Given the description of an element on the screen output the (x, y) to click on. 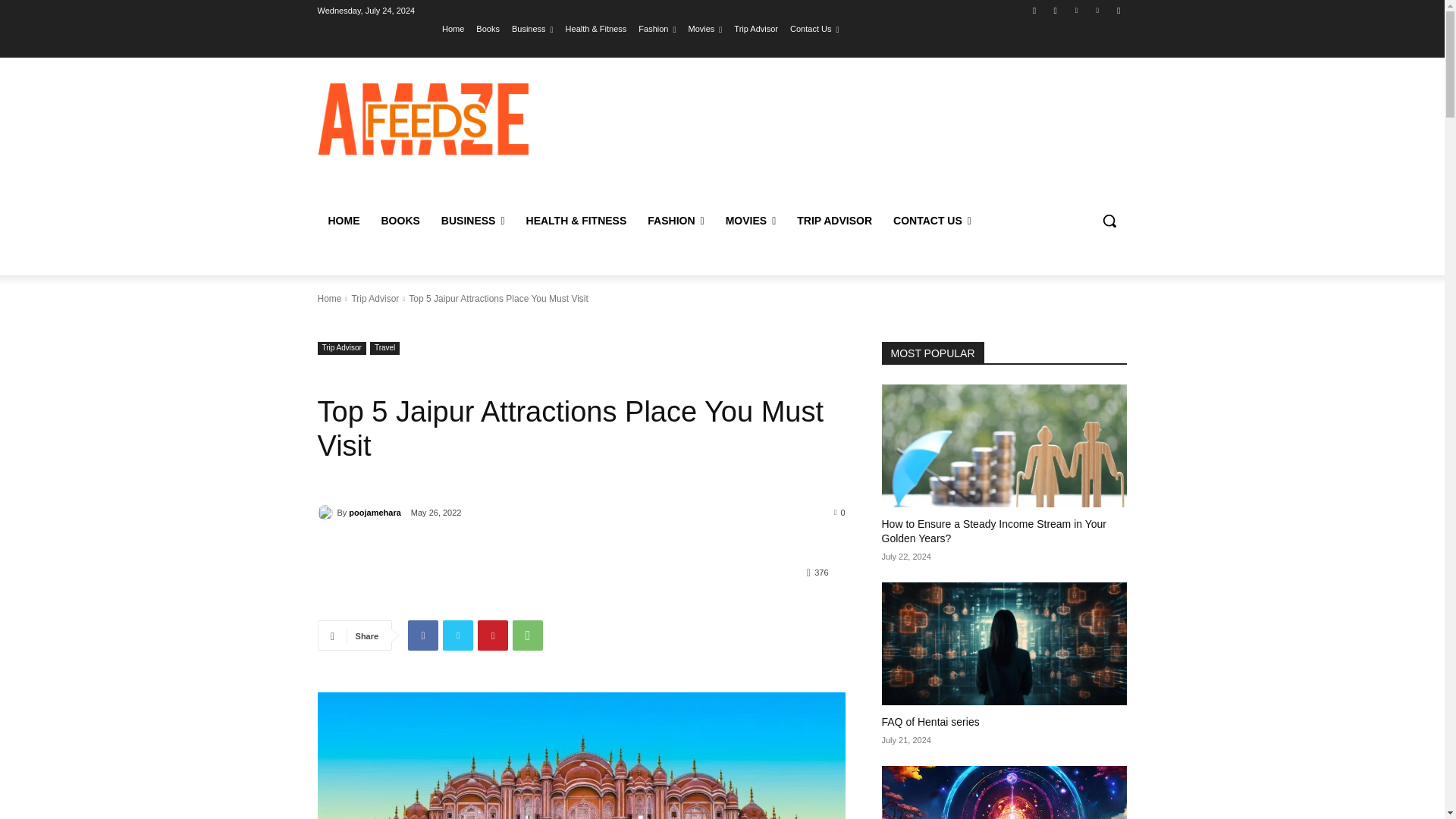
Instagram (1055, 9)
poojamehara (326, 512)
Home (453, 28)
Vimeo (1097, 9)
Business (532, 28)
Facebook (1034, 9)
Pinterest (492, 634)
Trip Advisor (755, 28)
Twitter (457, 634)
Fashion (657, 28)
Facebook (422, 634)
Books (487, 28)
Twitter (1075, 9)
Movies (704, 28)
Youtube (1117, 9)
